Given the description of an element on the screen output the (x, y) to click on. 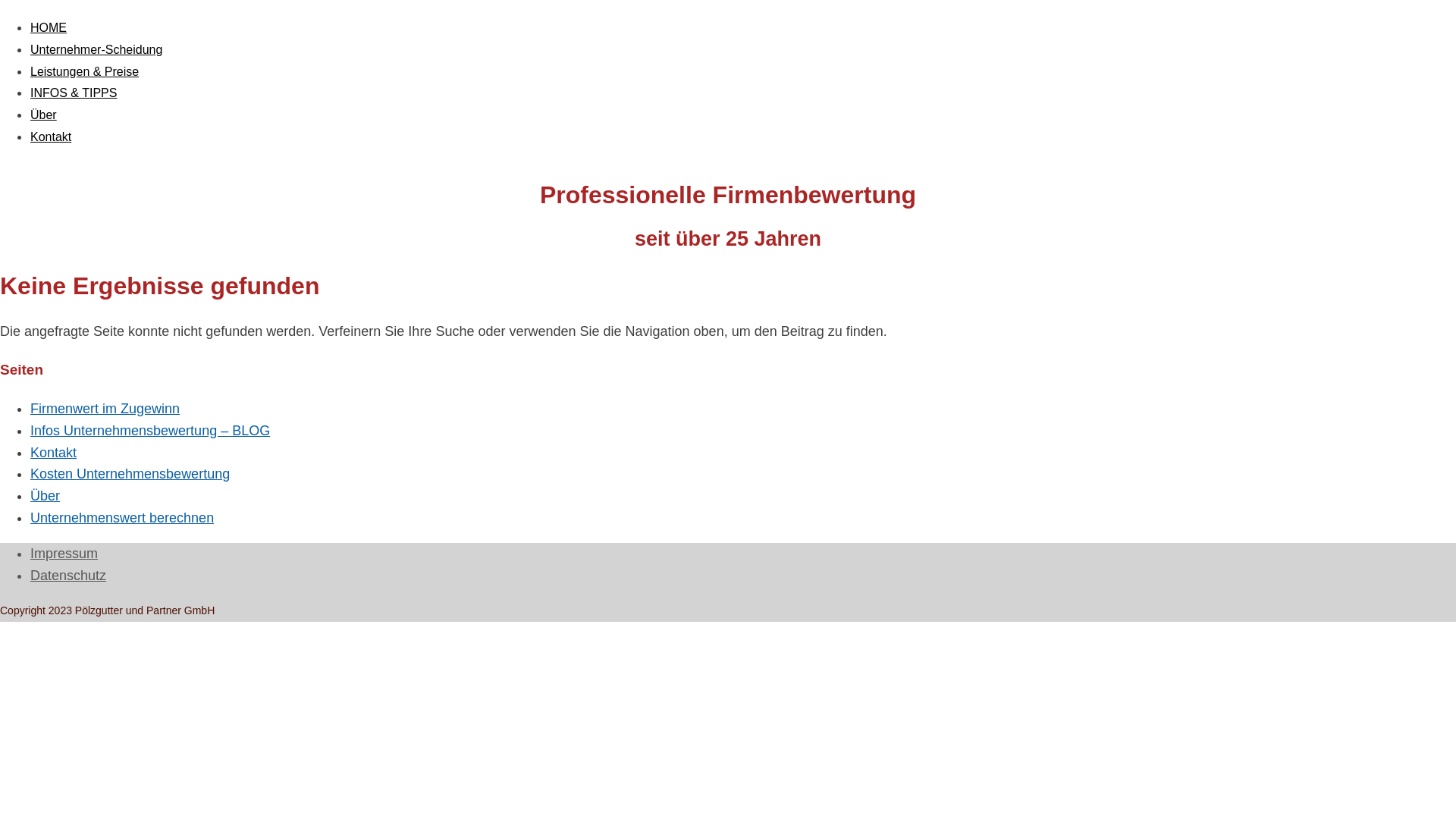
Unternehmer-Scheidung Element type: text (96, 49)
Firmenwert im Zugewinn Element type: text (104, 408)
Unternehmenswert berechnen Element type: text (121, 517)
Impressum Element type: text (63, 553)
HOME Element type: text (48, 27)
Kosten Unternehmensbewertung Element type: text (129, 473)
Kontakt Element type: text (53, 452)
Kontakt Element type: text (50, 136)
Leistungen & Preise Element type: text (84, 71)
Datenschutz Element type: text (68, 575)
INFOS & TIPPS Element type: text (73, 92)
